Given the description of an element on the screen output the (x, y) to click on. 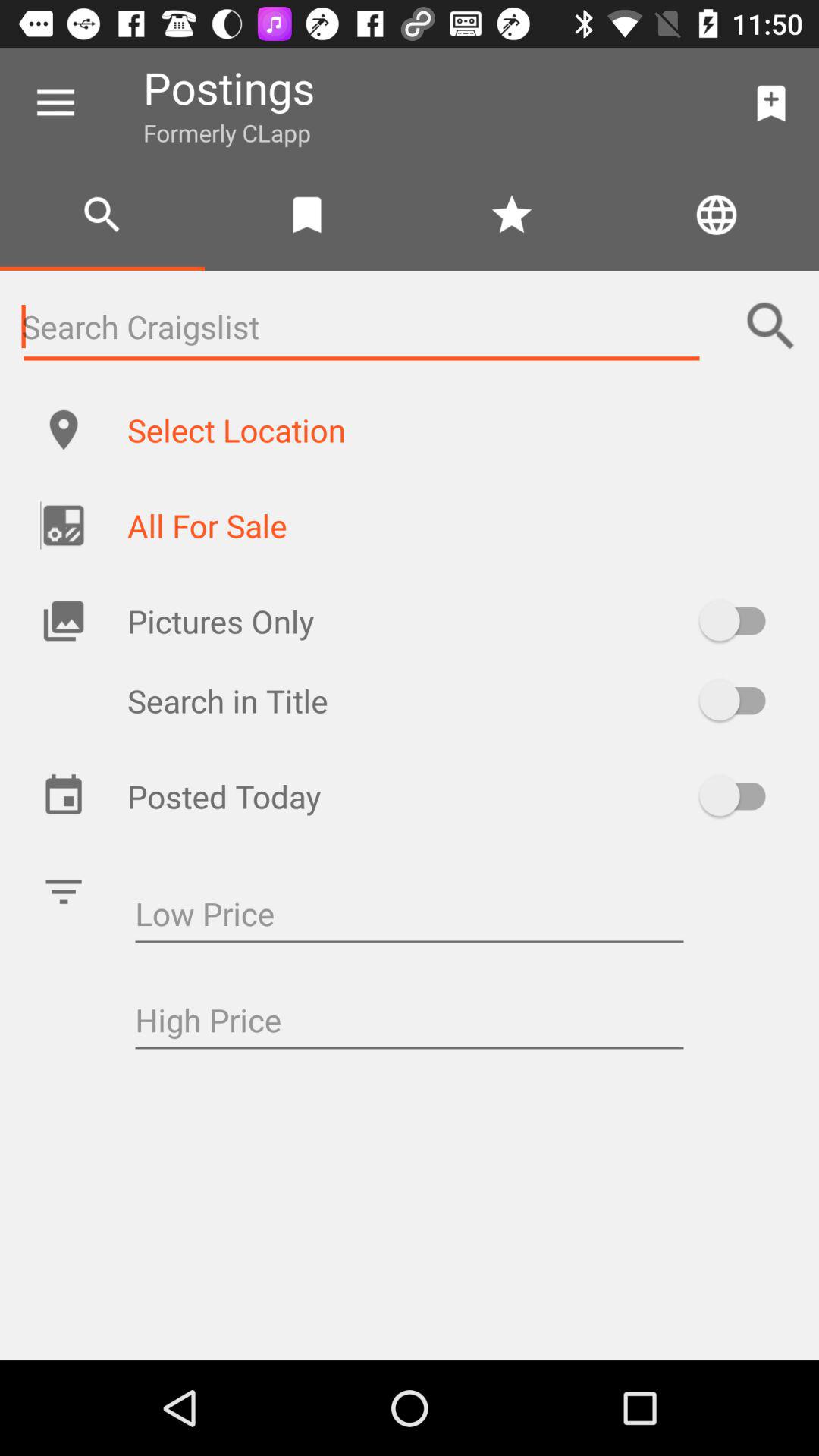
select lowest price for search term (409, 915)
